Given the description of an element on the screen output the (x, y) to click on. 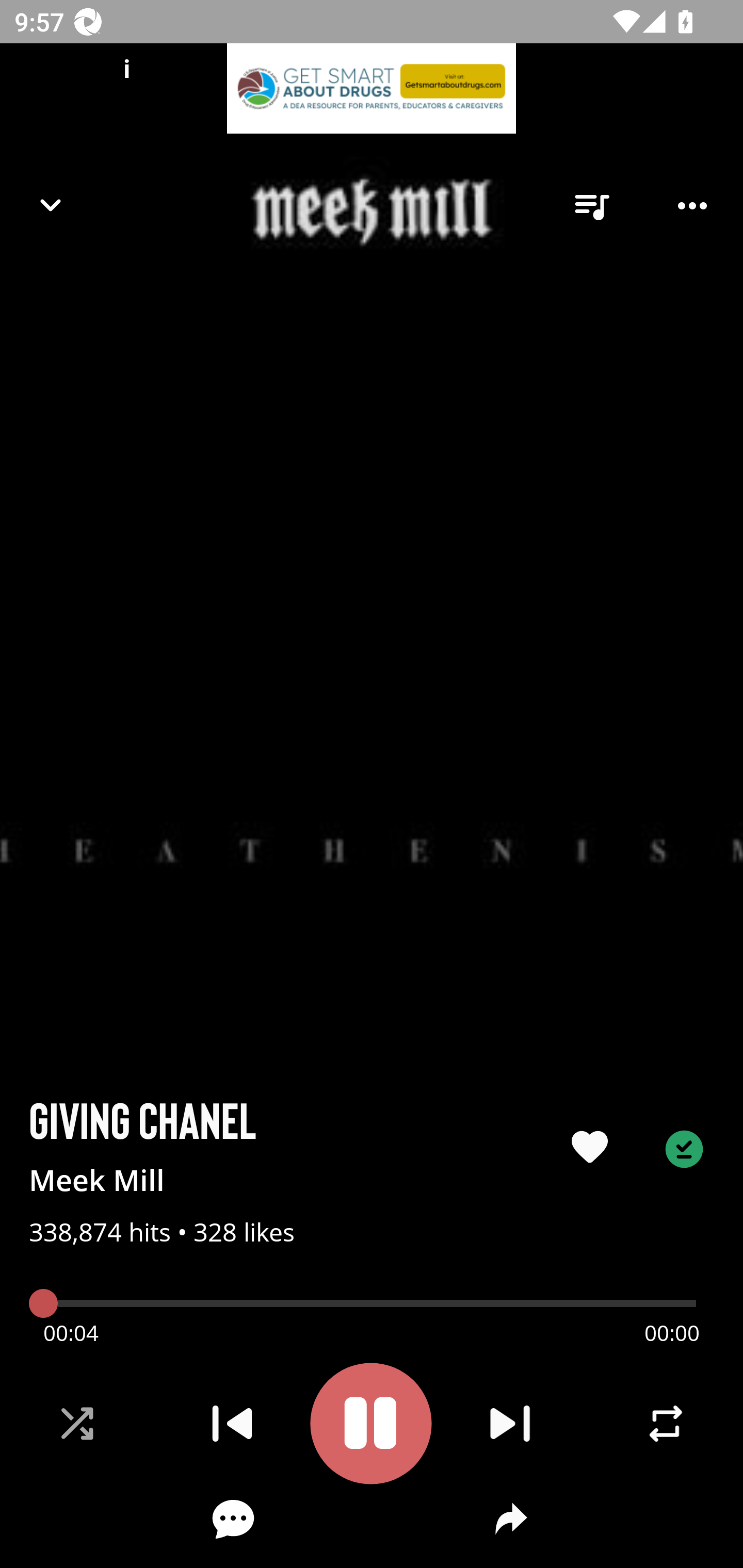
Navigate up (50, 205)
queue (590, 206)
Player options (692, 206)
